Given the description of an element on the screen output the (x, y) to click on. 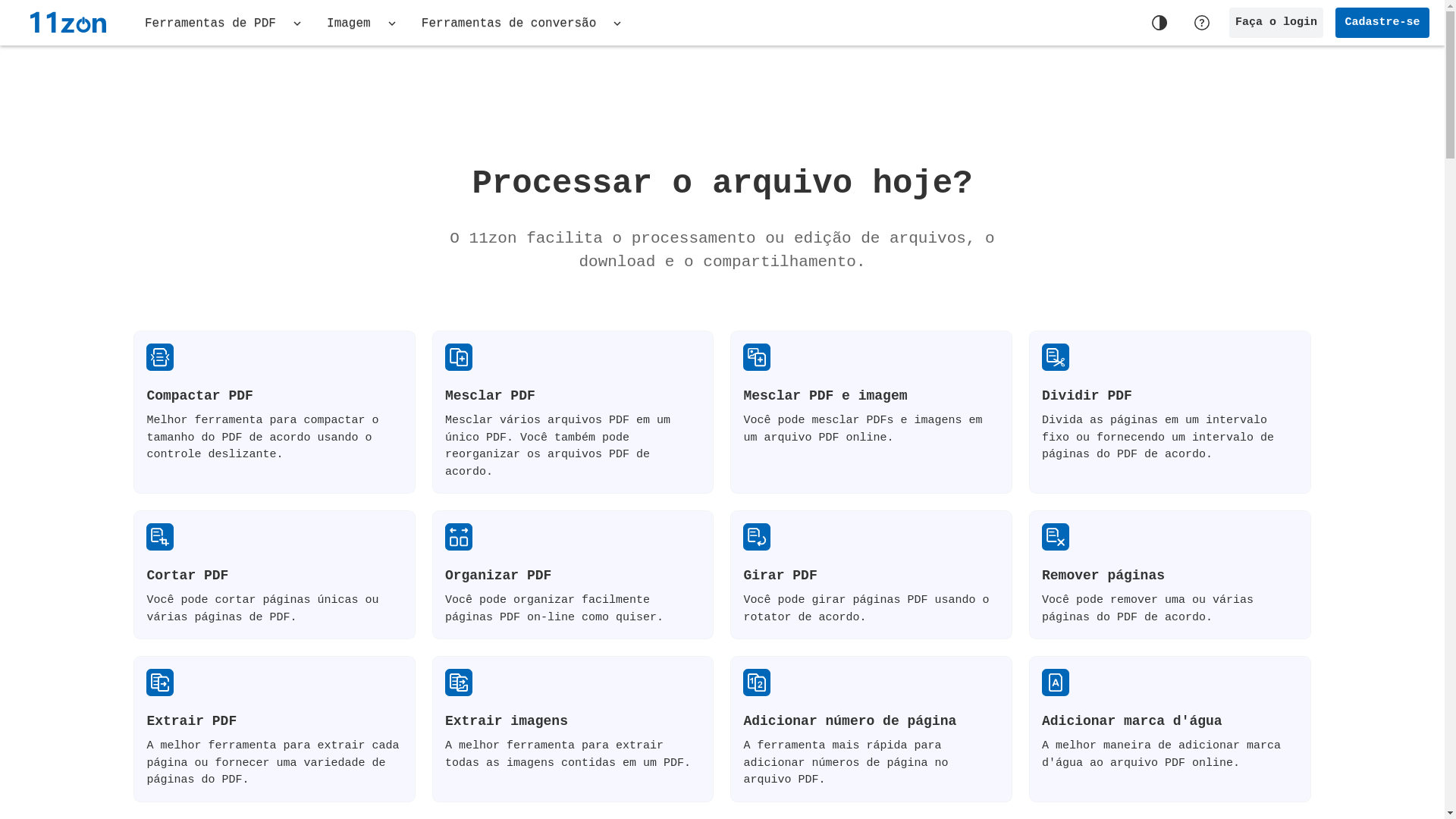
Advertisement Element type: hover (721, 96)
Ferramentas de PDF   Element type: text (224, 22)
Imagem   Element type: text (362, 22)
Cadastre-se Element type: text (1382, 22)
